Given the description of an element on the screen output the (x, y) to click on. 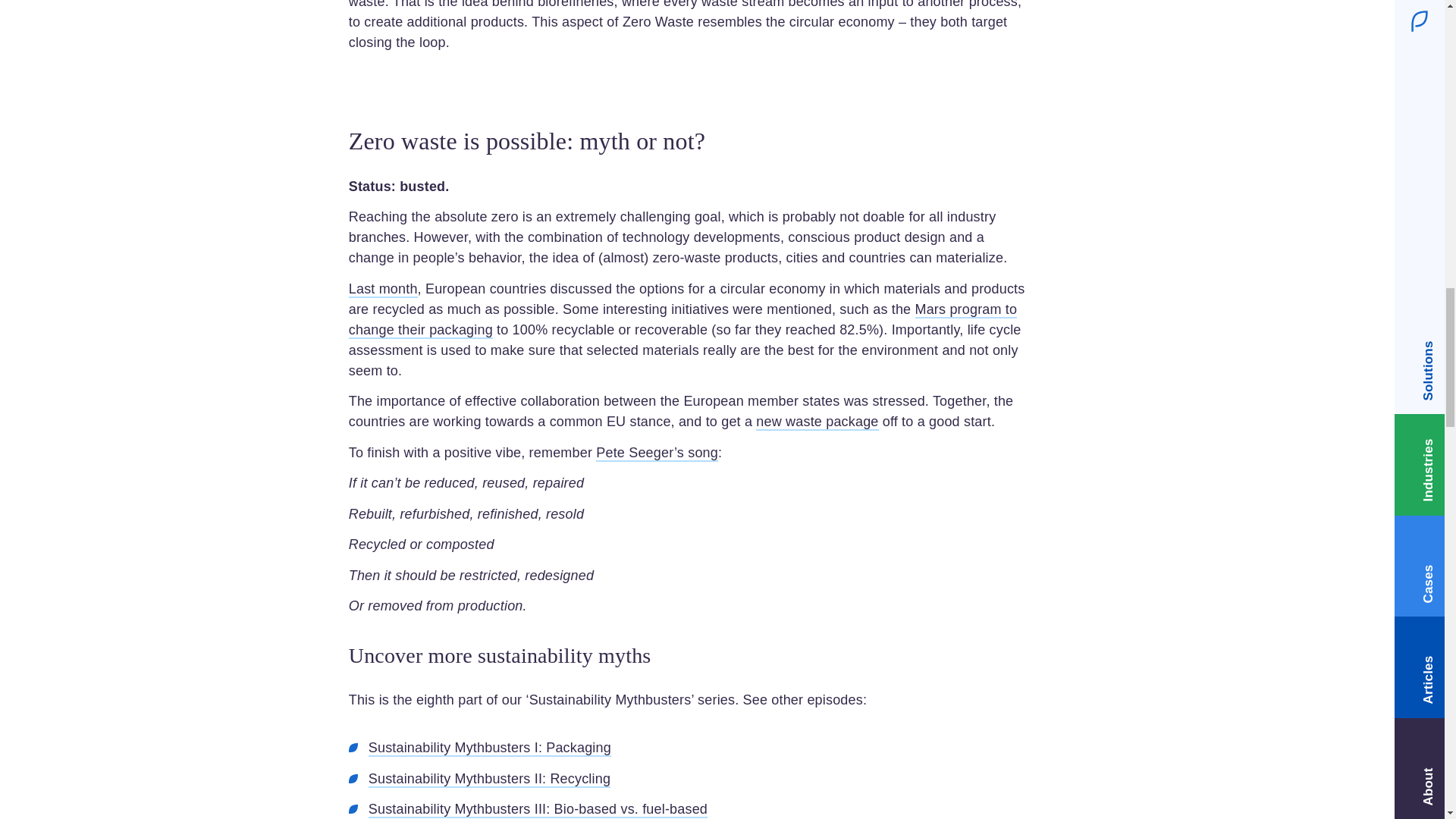
Last month (383, 289)
Sustainability Mythbusters I: Packaging (489, 748)
Mars program to change their packaging (683, 320)
new waste package (816, 422)
